Given the description of an element on the screen output the (x, y) to click on. 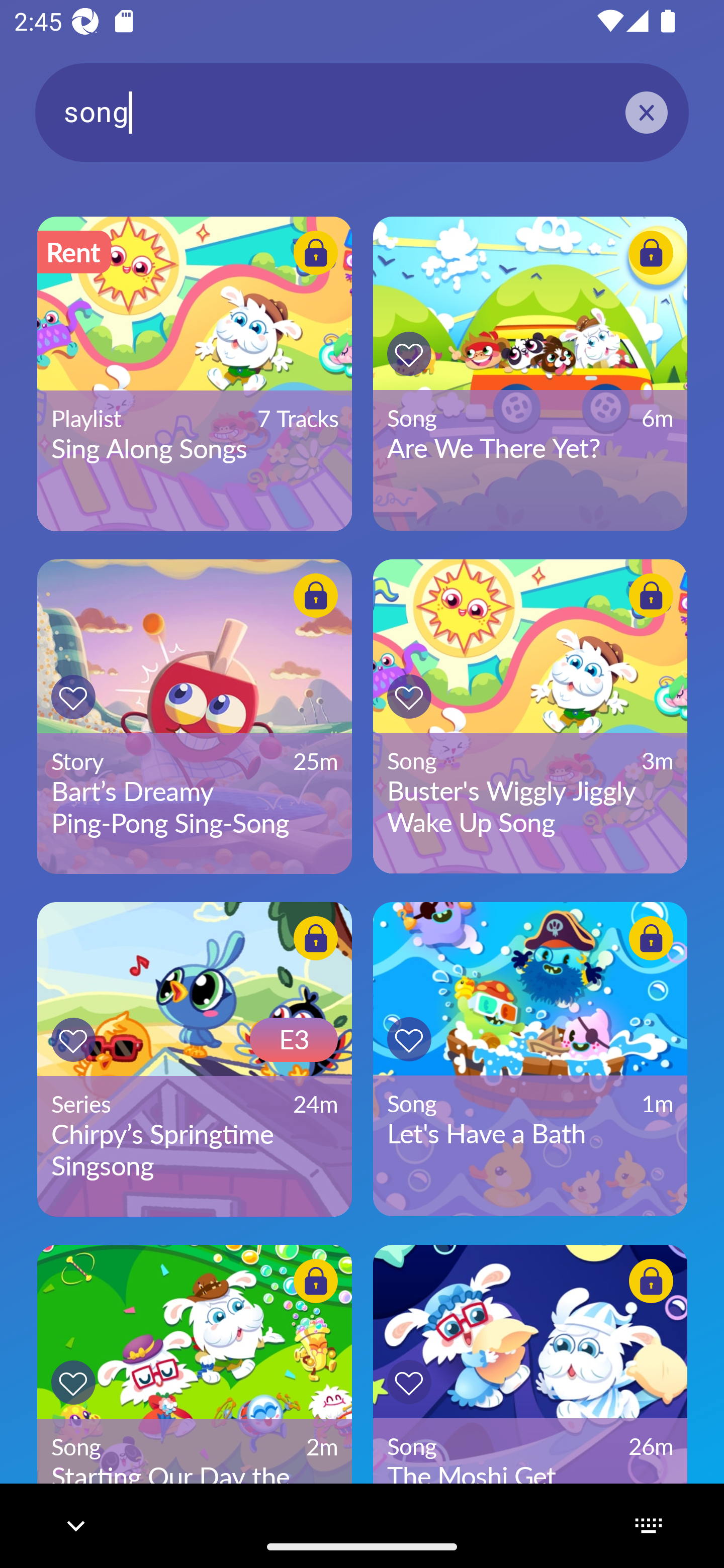
song (361, 111)
Button (315, 252)
Button (650, 252)
Button (409, 354)
Button (315, 595)
Button (650, 595)
Button (409, 695)
Button (73, 696)
Button (315, 937)
Button (650, 937)
Button (409, 1039)
Button (73, 1039)
Button (315, 1280)
Button (650, 1280)
Button (409, 1381)
Button (73, 1382)
